Given the description of an element on the screen output the (x, y) to click on. 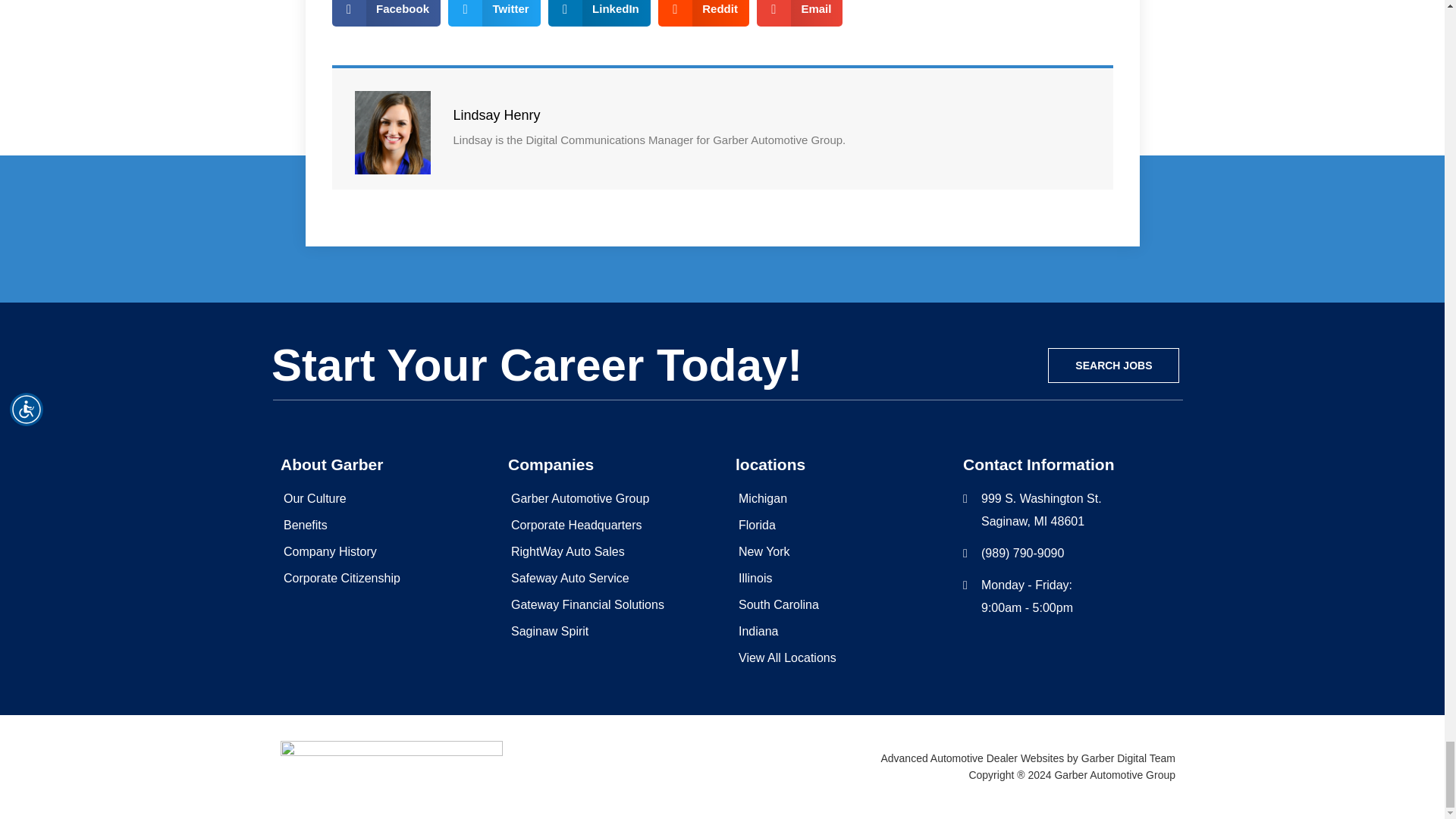
SEARCH JOBS (1113, 365)
